Given the description of an element on the screen output the (x, y) to click on. 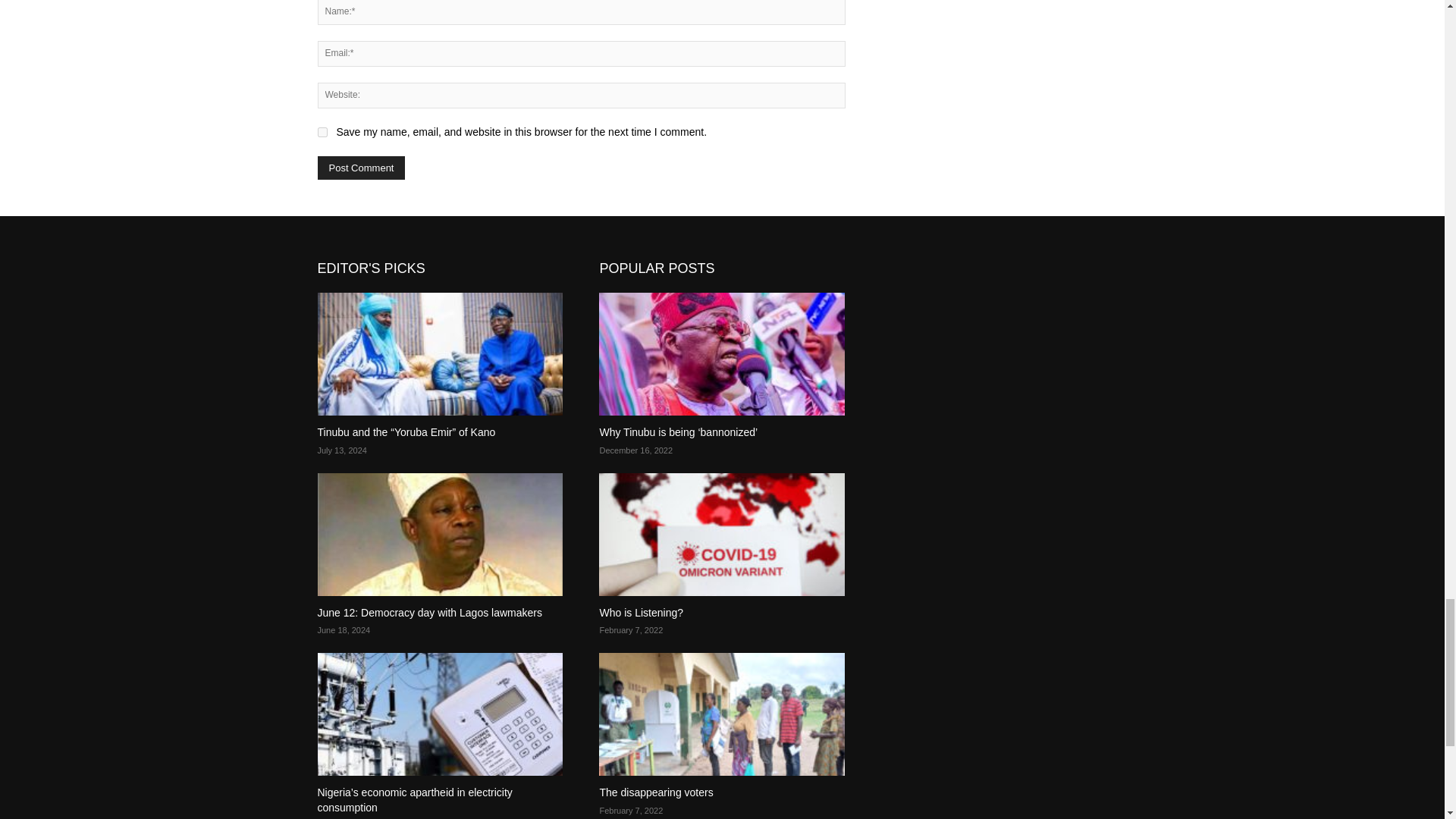
Post Comment (360, 167)
yes (321, 132)
